Given the description of an element on the screen output the (x, y) to click on. 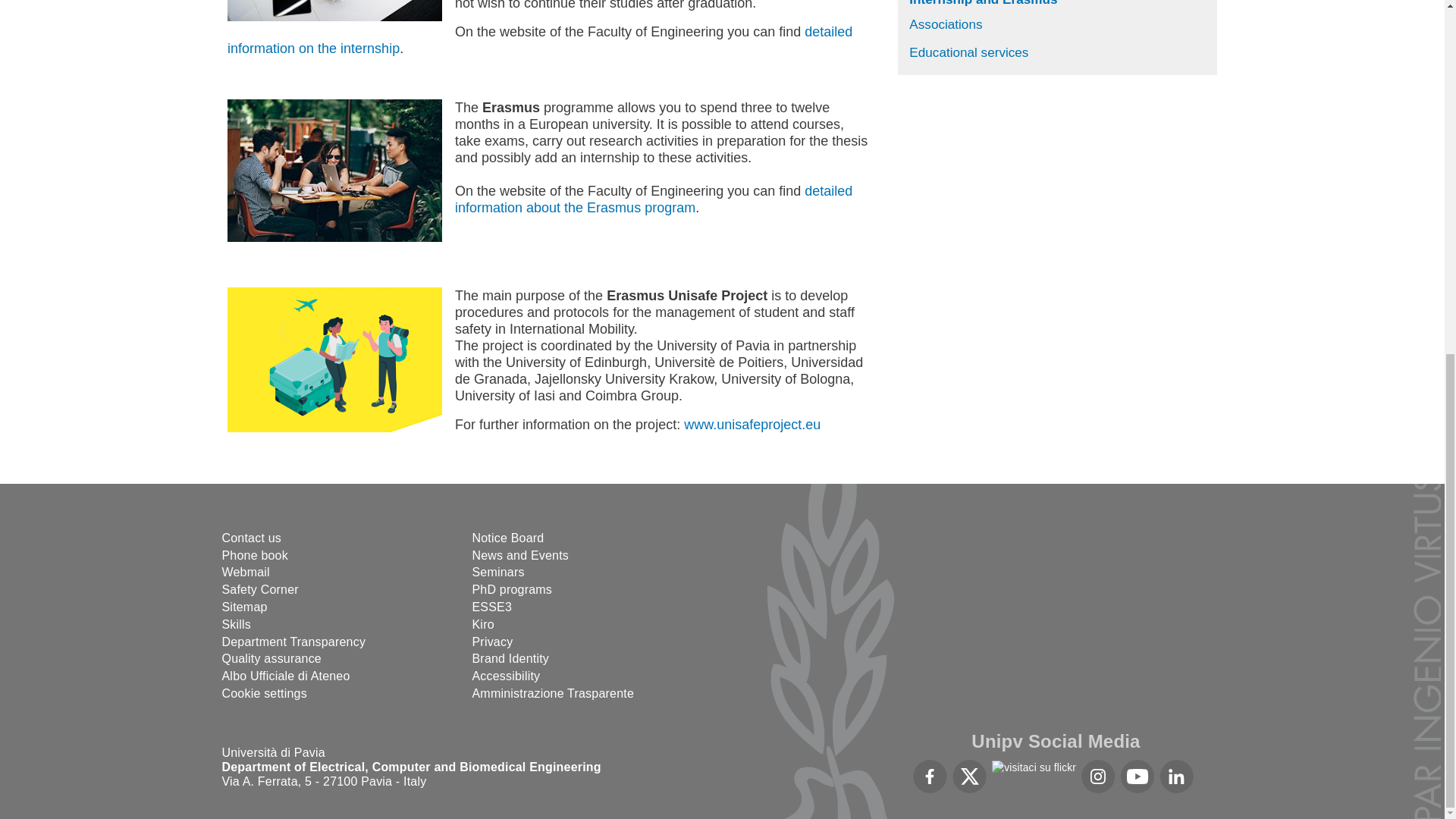
Linkedin (1175, 776)
Instagram (1098, 776)
Twitter (969, 776)
Flickr (1033, 767)
Youtube (1137, 776)
Facebook (929, 776)
